Given the description of an element on the screen output the (x, y) to click on. 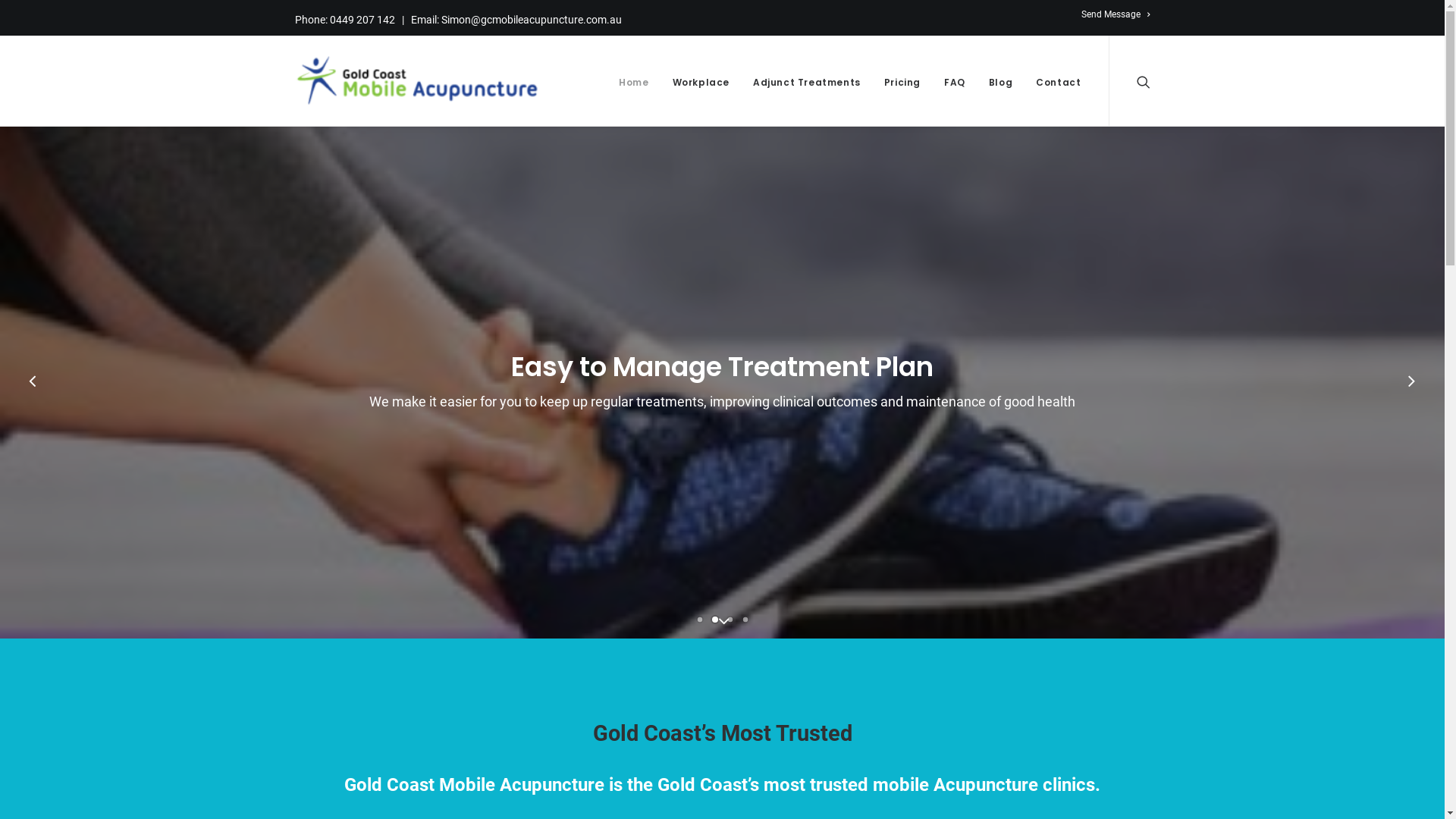
Blog Element type: text (1000, 80)
Pricing Element type: text (902, 80)
Adjunct Treatments Element type: text (806, 80)
Workplace Element type: text (701, 80)
FAQ Element type: text (954, 80)
Send Message Element type: text (1115, 14)
Simon@gcmobileacupuncture.com.au Element type: text (531, 19)
Contact Element type: text (1052, 80)
Home Element type: text (633, 80)
